Given the description of an element on the screen output the (x, y) to click on. 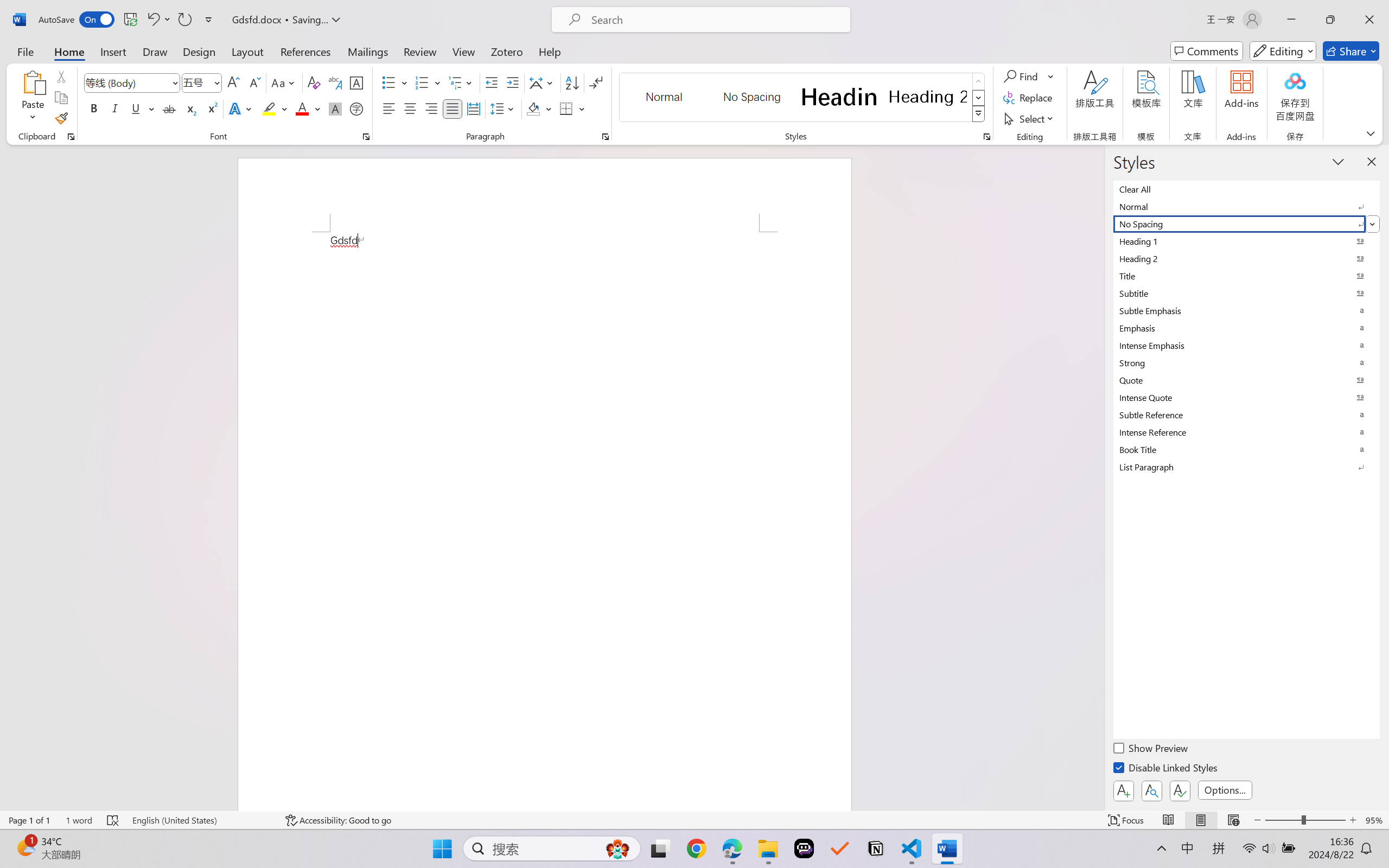
Row Down (978, 97)
Office Clipboard... (70, 136)
Subtle Reference (1246, 414)
Phonetic Guide... (334, 82)
Select (1030, 118)
Repeat Style (184, 19)
